Given the description of an element on the screen output the (x, y) to click on. 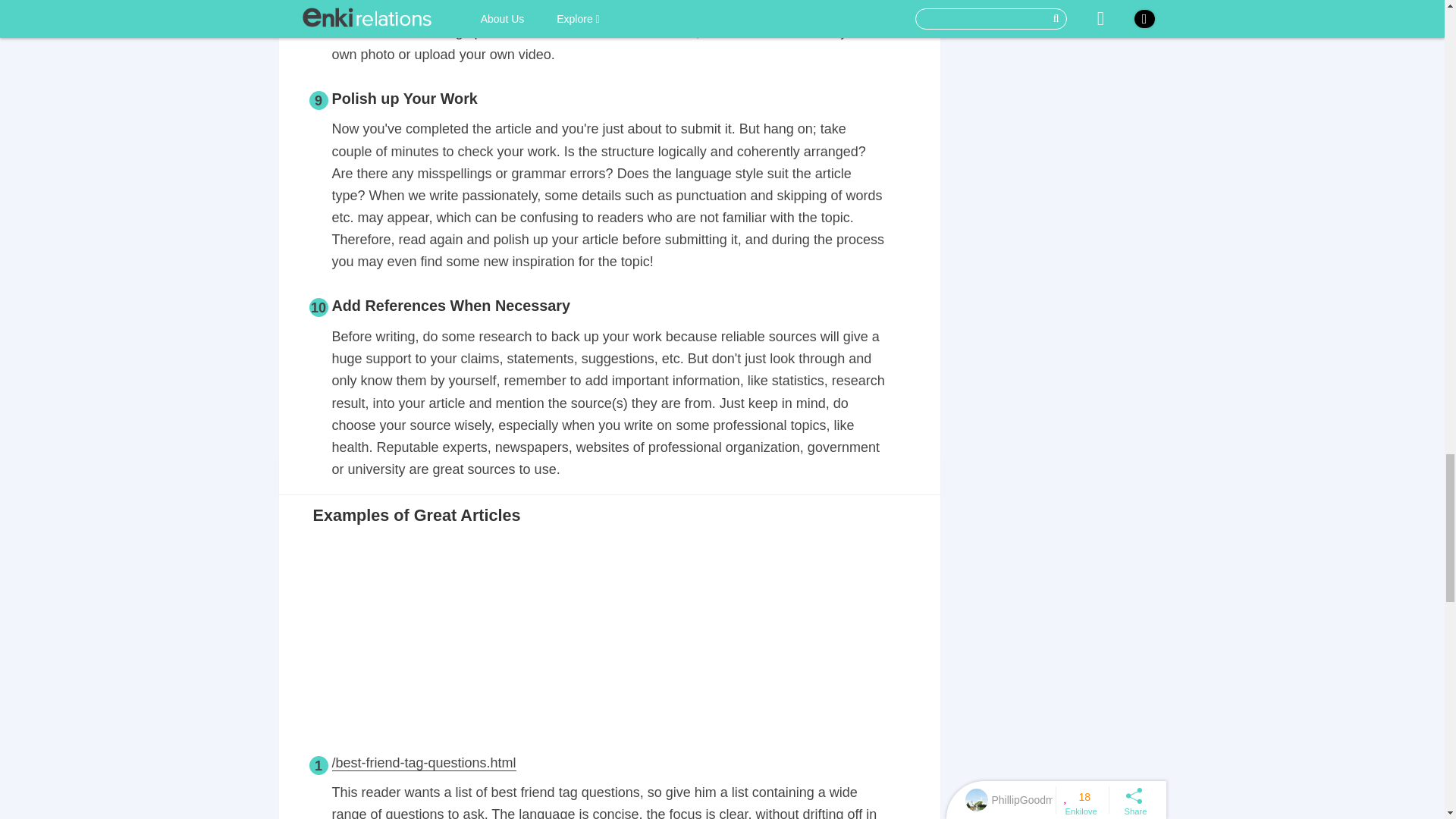
Advertisement (609, 638)
